Given the description of an element on the screen output the (x, y) to click on. 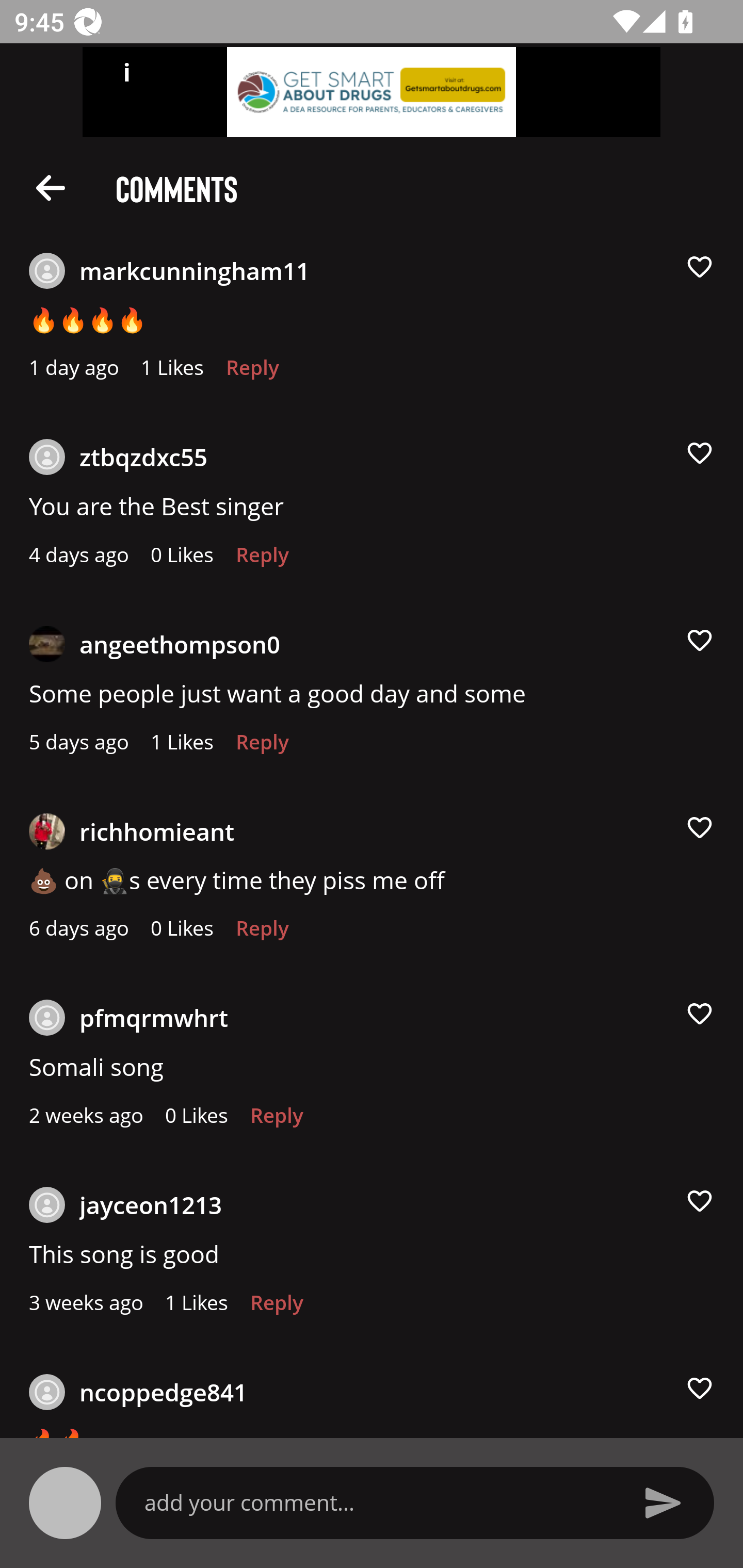
Description (50, 187)
Reply (252, 372)
Reply (261, 559)
Reply (261, 747)
Reply (261, 932)
Reply (276, 1120)
Reply (276, 1307)
add your comment… (378, 1502)
